Given the description of an element on the screen output the (x, y) to click on. 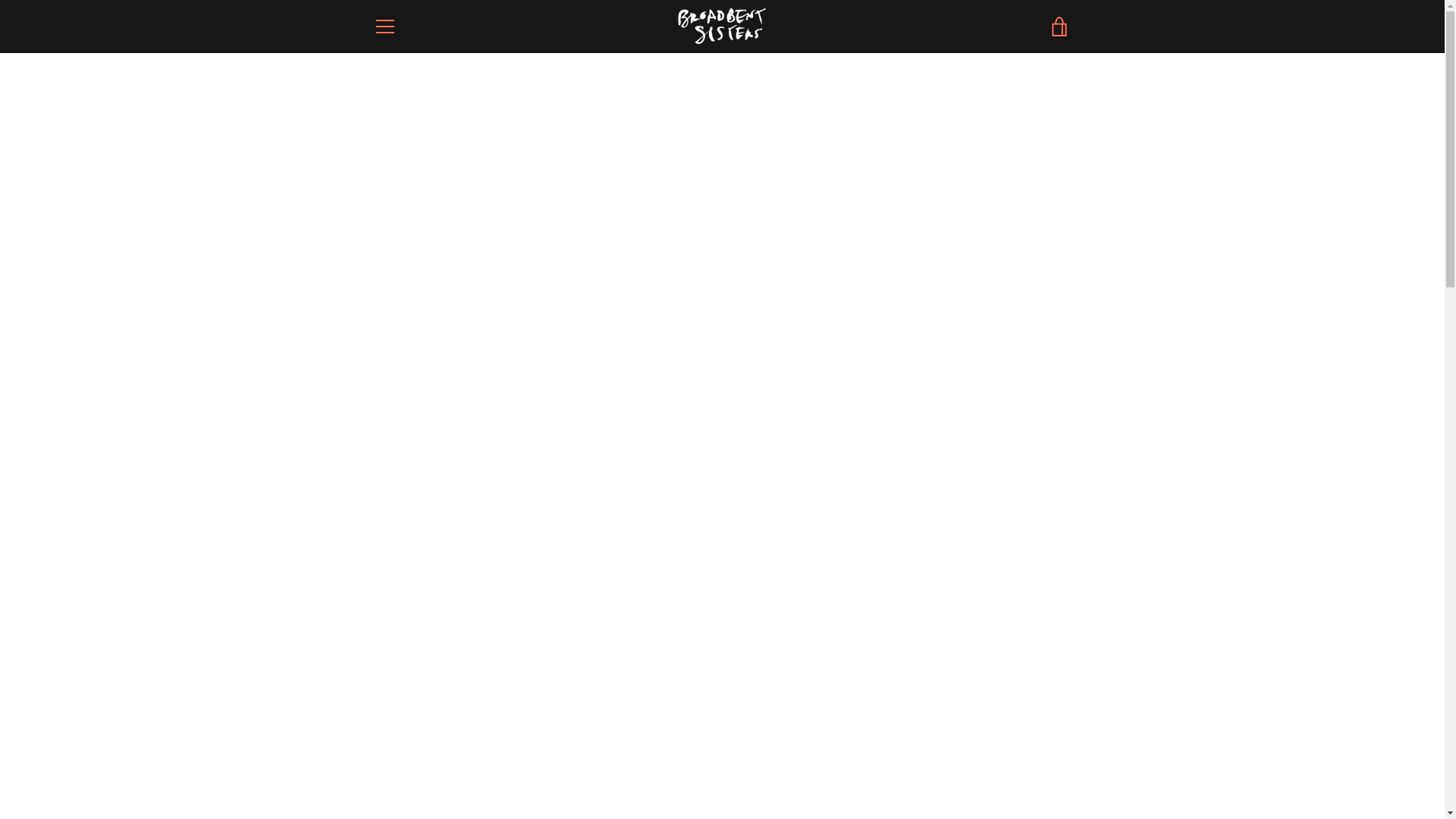
EXPAND NAVIGATION (384, 26)
VIEW CART (1059, 26)
